Given the description of an element on the screen output the (x, y) to click on. 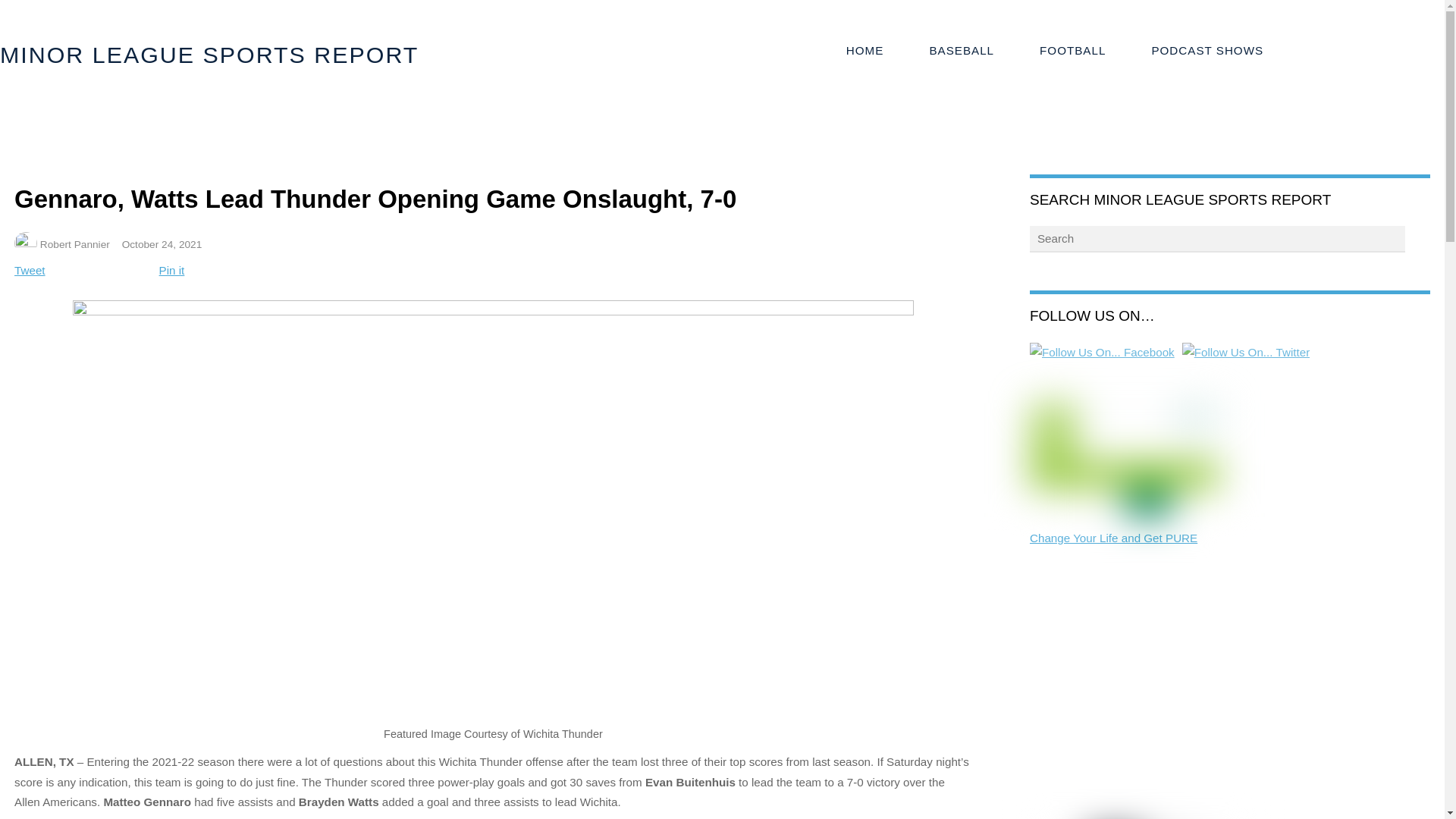
Tweet (29, 269)
Pin it (171, 269)
HOME (865, 50)
Robert Pannier (75, 244)
BASEBALL (960, 50)
MINOR LEAGUE SPORTS REPORT (209, 54)
Minor League Sports Report (209, 54)
PODCAST SHOWS (1206, 50)
Change Your Life and Get PURE (1112, 537)
Follow Us On... Facebook (1101, 353)
FOOTBALL (1072, 50)
